Given the description of an element on the screen output the (x, y) to click on. 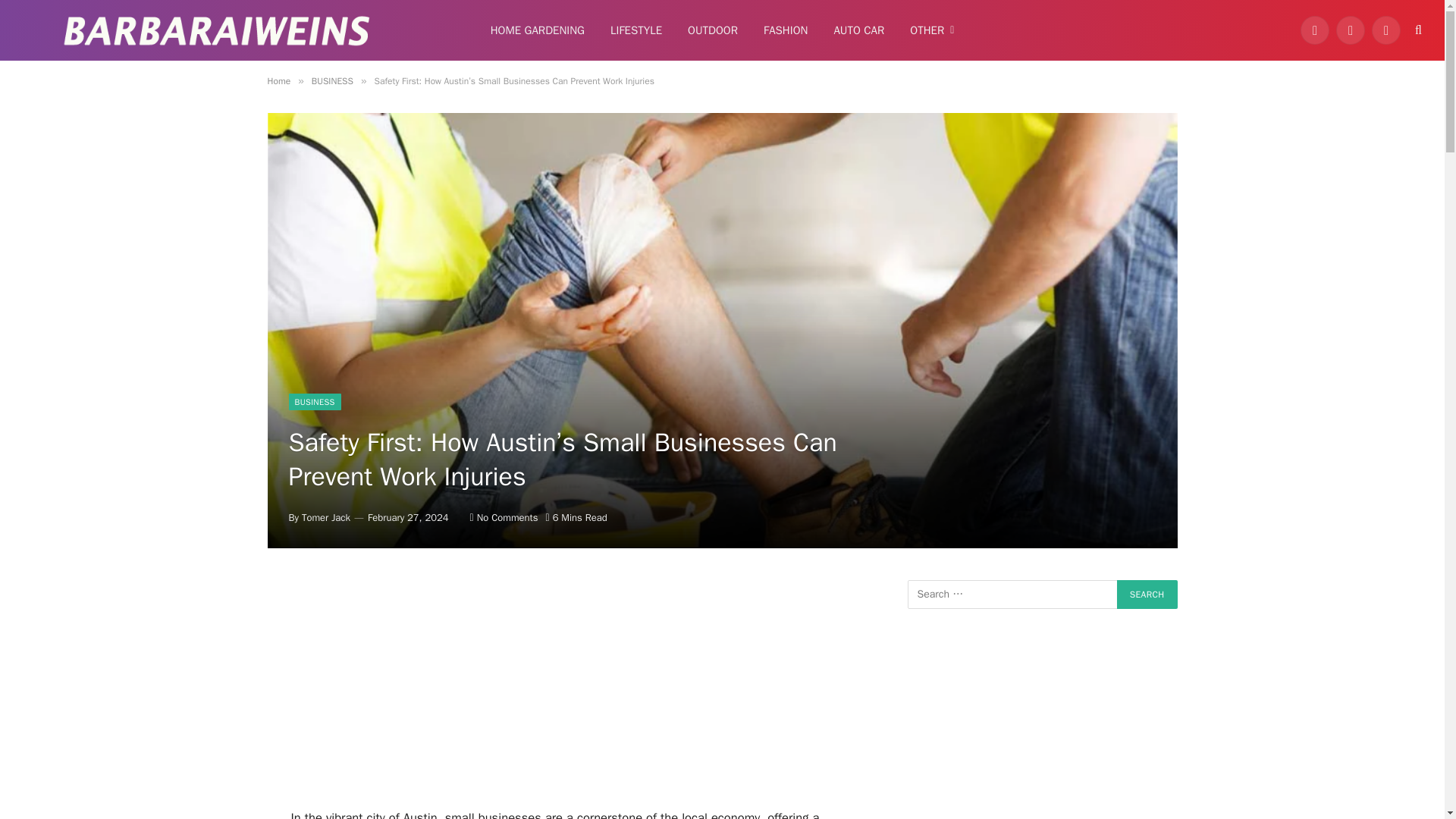
Search (1146, 594)
Advertisement (566, 694)
Posts by Tomer Jack (325, 517)
AUTO CAR (858, 30)
FASHION (786, 30)
Search (1146, 594)
HOME GARDENING (536, 30)
BARBARAIWEINS (216, 30)
OUTDOOR (713, 30)
LIFESTYLE (635, 30)
